Given the description of an element on the screen output the (x, y) to click on. 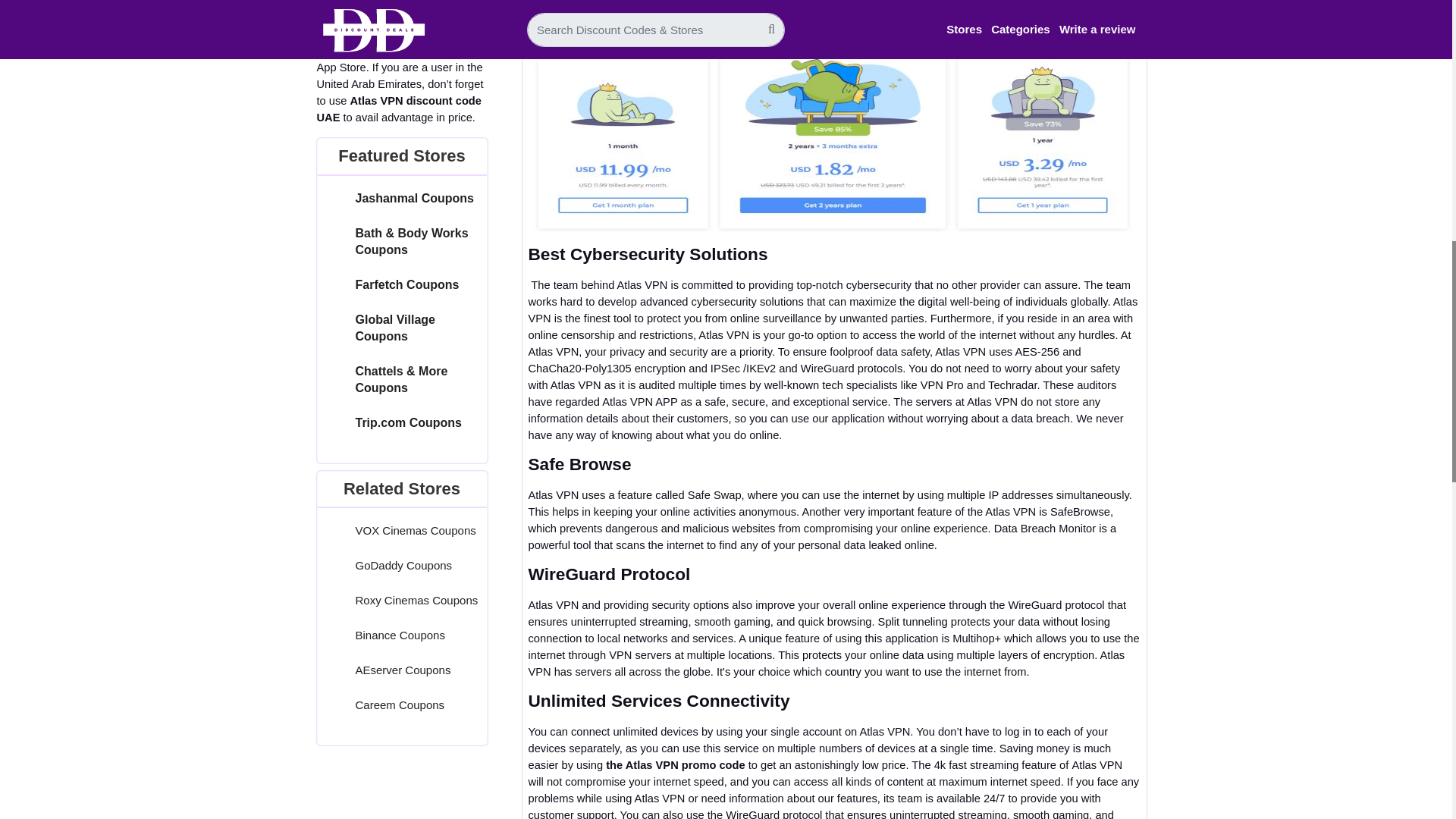
Jashanmal Coupons (414, 197)
Roxy Cinemas Coupons (416, 599)
Global Village Coupons (395, 327)
Atlas VPN Offers (833, 138)
Careem Coupons (399, 704)
VOX Cinemas Coupons (415, 530)
Binance Coupons (399, 634)
GoDaddy Coupons (403, 564)
Trip.com Coupons (408, 422)
Farfetch Coupons (406, 284)
AEserver Coupons (402, 669)
